Given the description of an element on the screen output the (x, y) to click on. 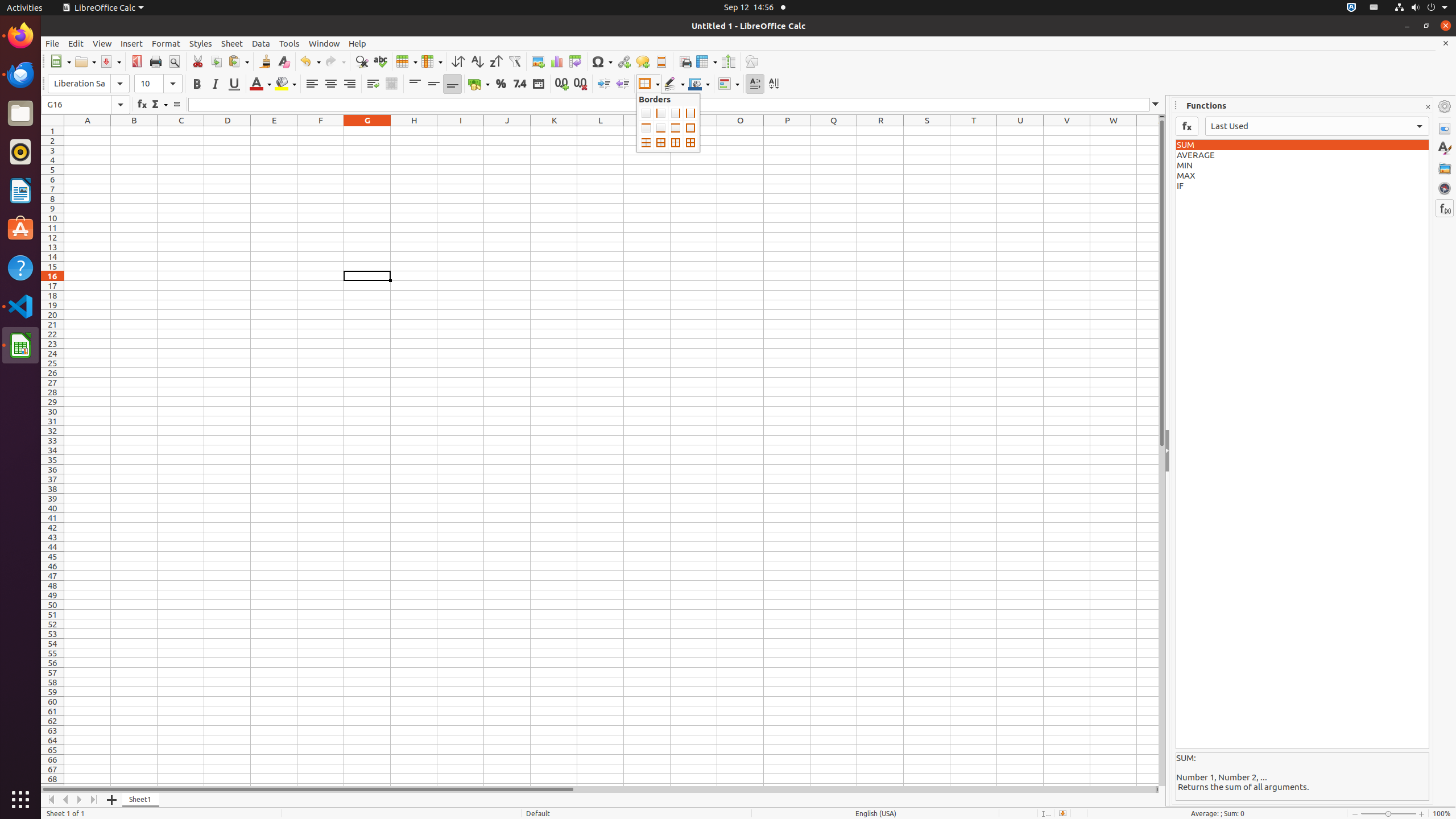
Split Window Element type: push-button (727, 61)
Align Bottom Element type: push-button (452, 83)
LibreOffice Calc Element type: menu (102, 7)
F1 Element type: table-cell (320, 130)
Styles Element type: radio-button (1444, 148)
